Given the description of an element on the screen output the (x, y) to click on. 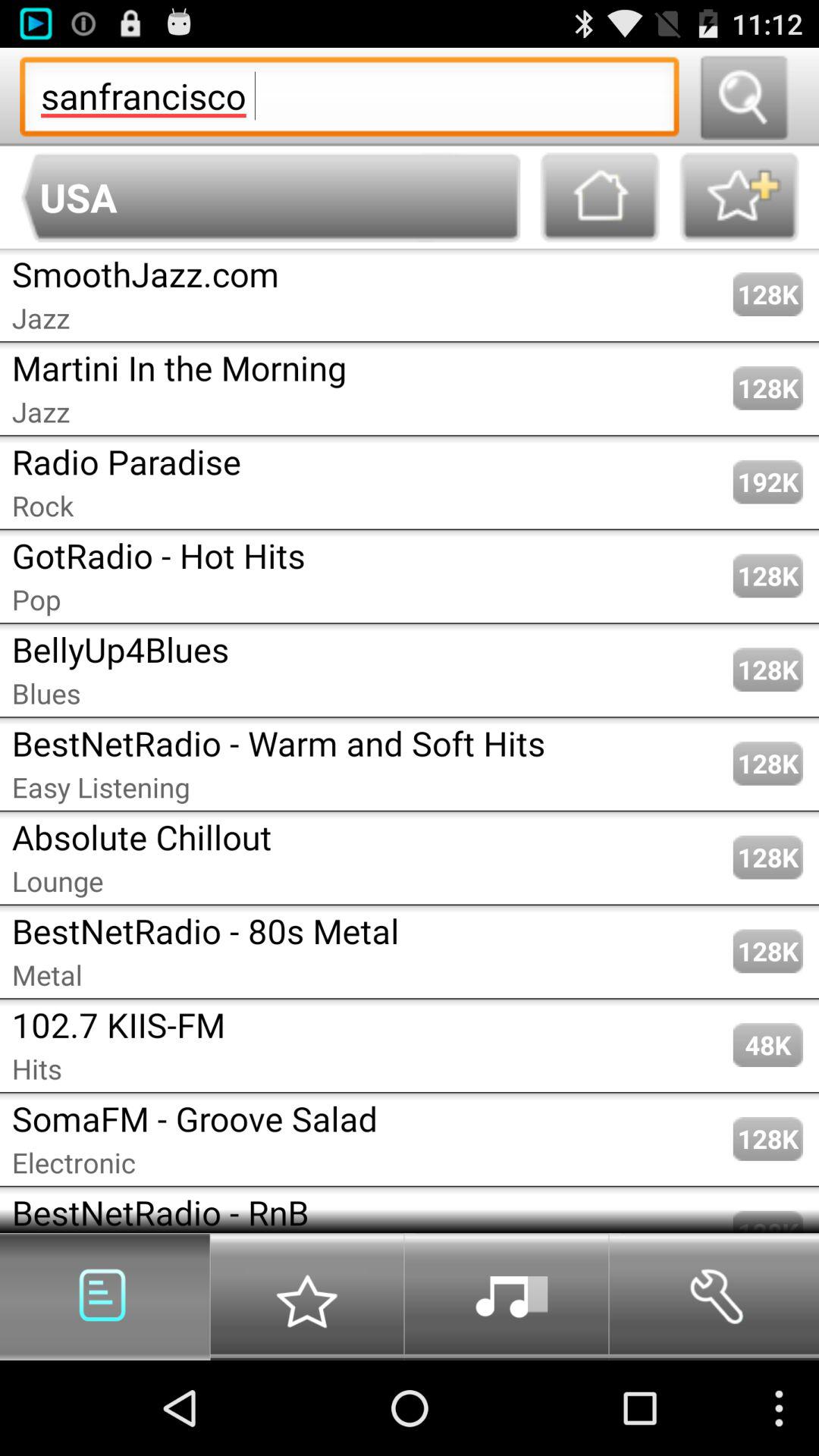
go to home page (599, 197)
